Given the description of an element on the screen output the (x, y) to click on. 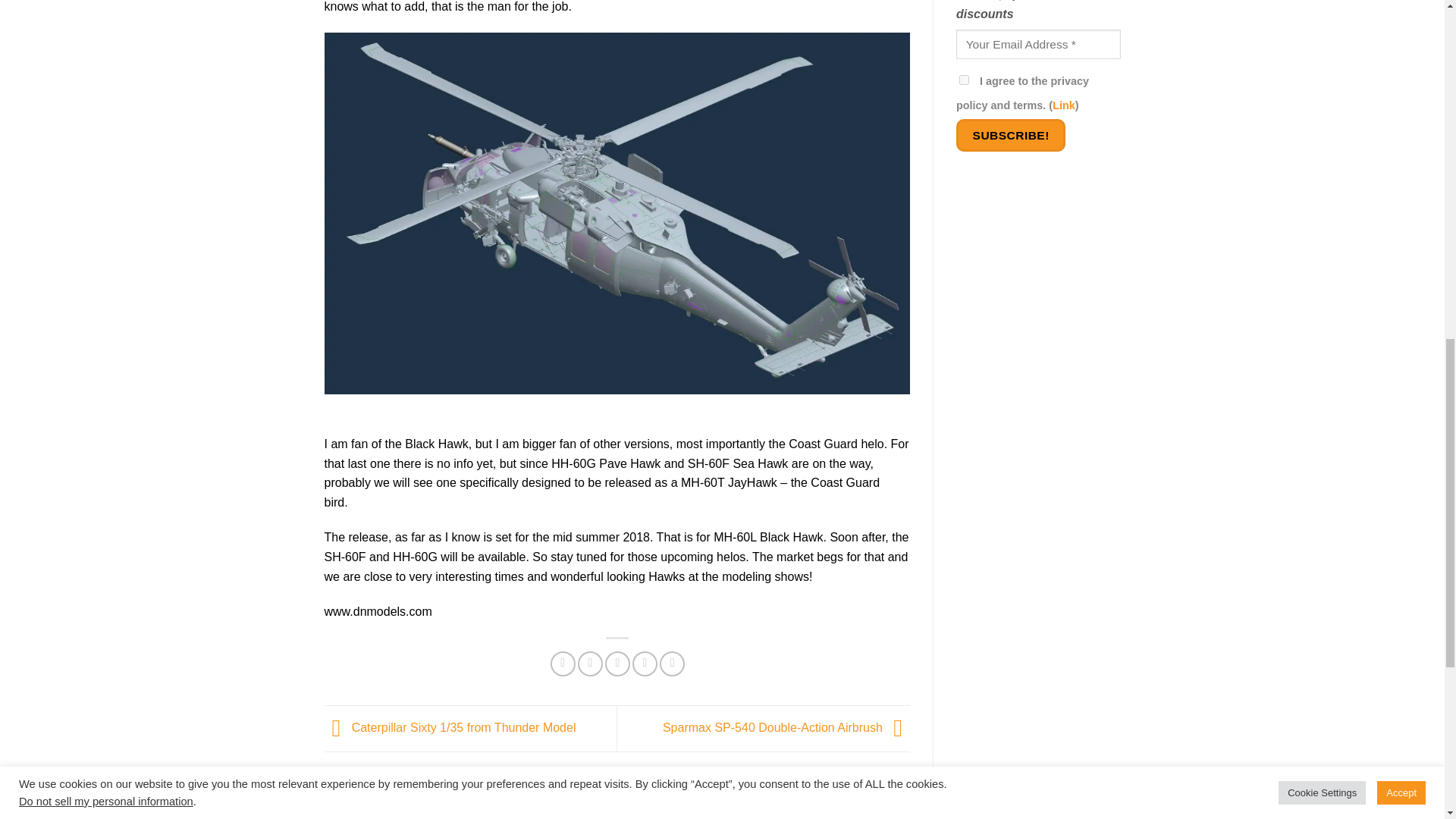
Email to a Friend (617, 663)
1 (964, 80)
Subscribe! (1010, 134)
Share on Facebook (562, 663)
Sparmax SP-540 Double-Action Airbrush (786, 727)
Share on Twitter (590, 663)
www.dnmodels.com (378, 611)
Pin on Pinterest (644, 663)
Link (1063, 105)
Share on LinkedIn (671, 663)
